Given the description of an element on the screen output the (x, y) to click on. 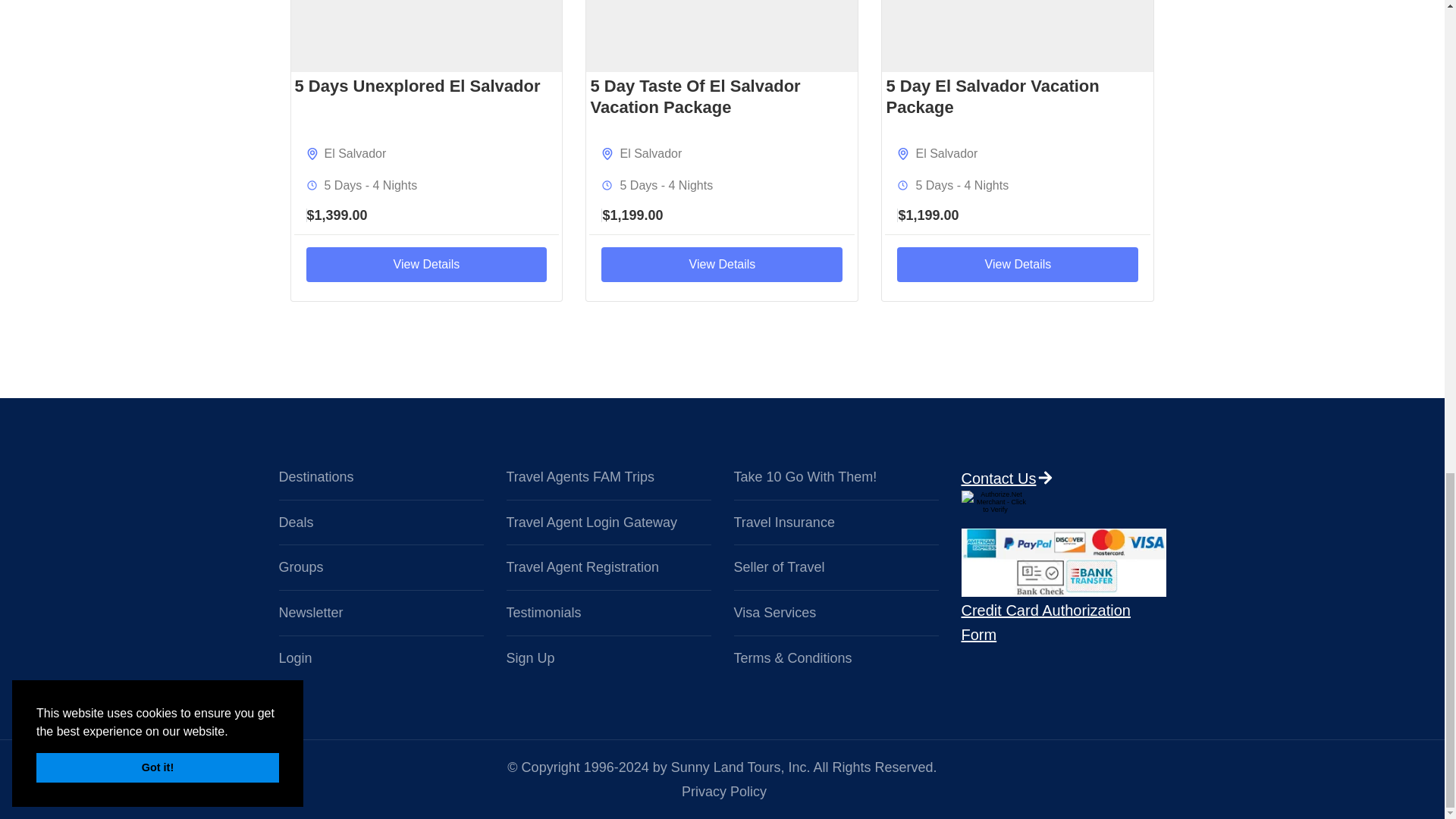
Contact Us (1044, 477)
Contact Us (1044, 477)
